Given the description of an element on the screen output the (x, y) to click on. 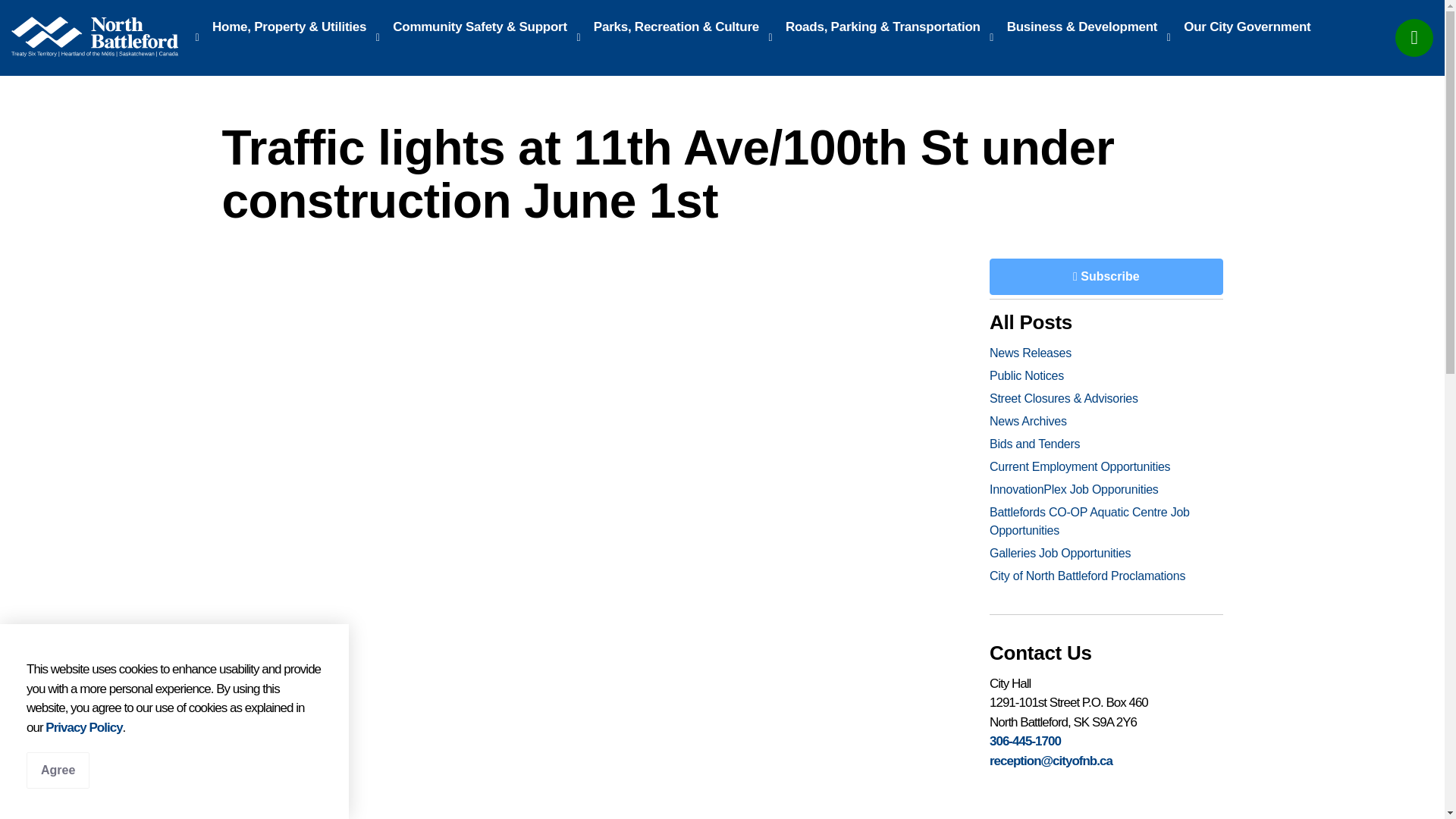
Privacy Policy (83, 727)
City of North Battleford (94, 36)
